Given the description of an element on the screen output the (x, y) to click on. 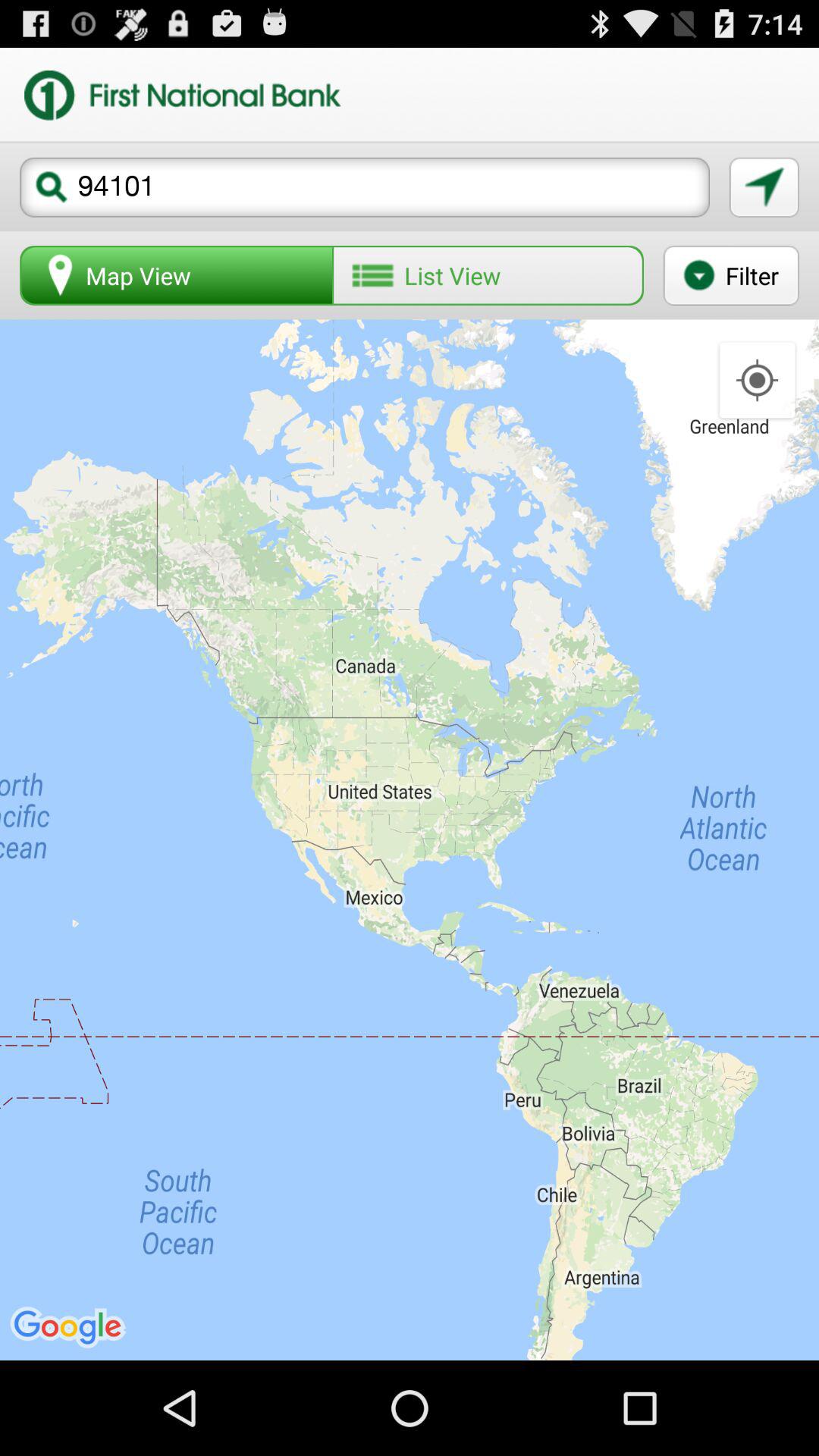
launch the icon next to the 94101 icon (764, 187)
